Given the description of an element on the screen output the (x, y) to click on. 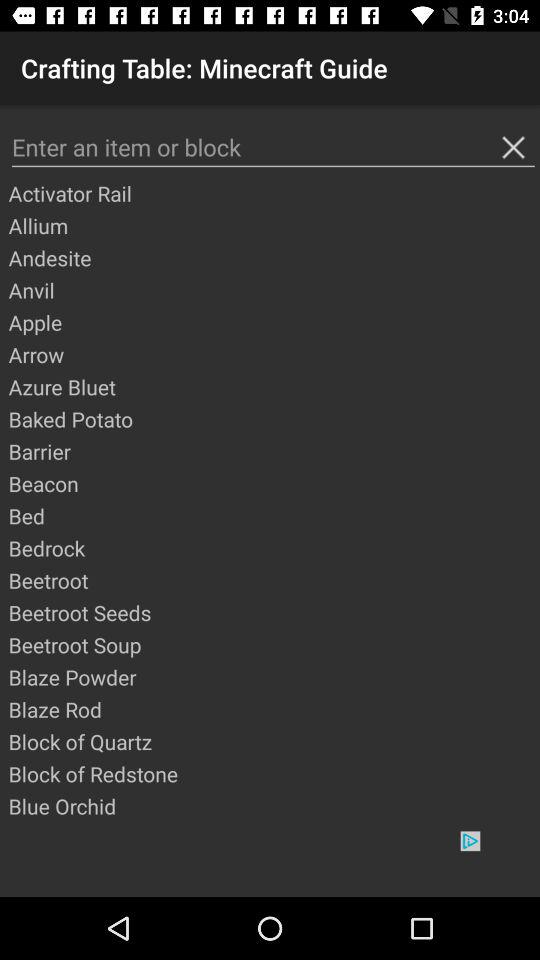
jump until the barrier app (273, 451)
